Given the description of an element on the screen output the (x, y) to click on. 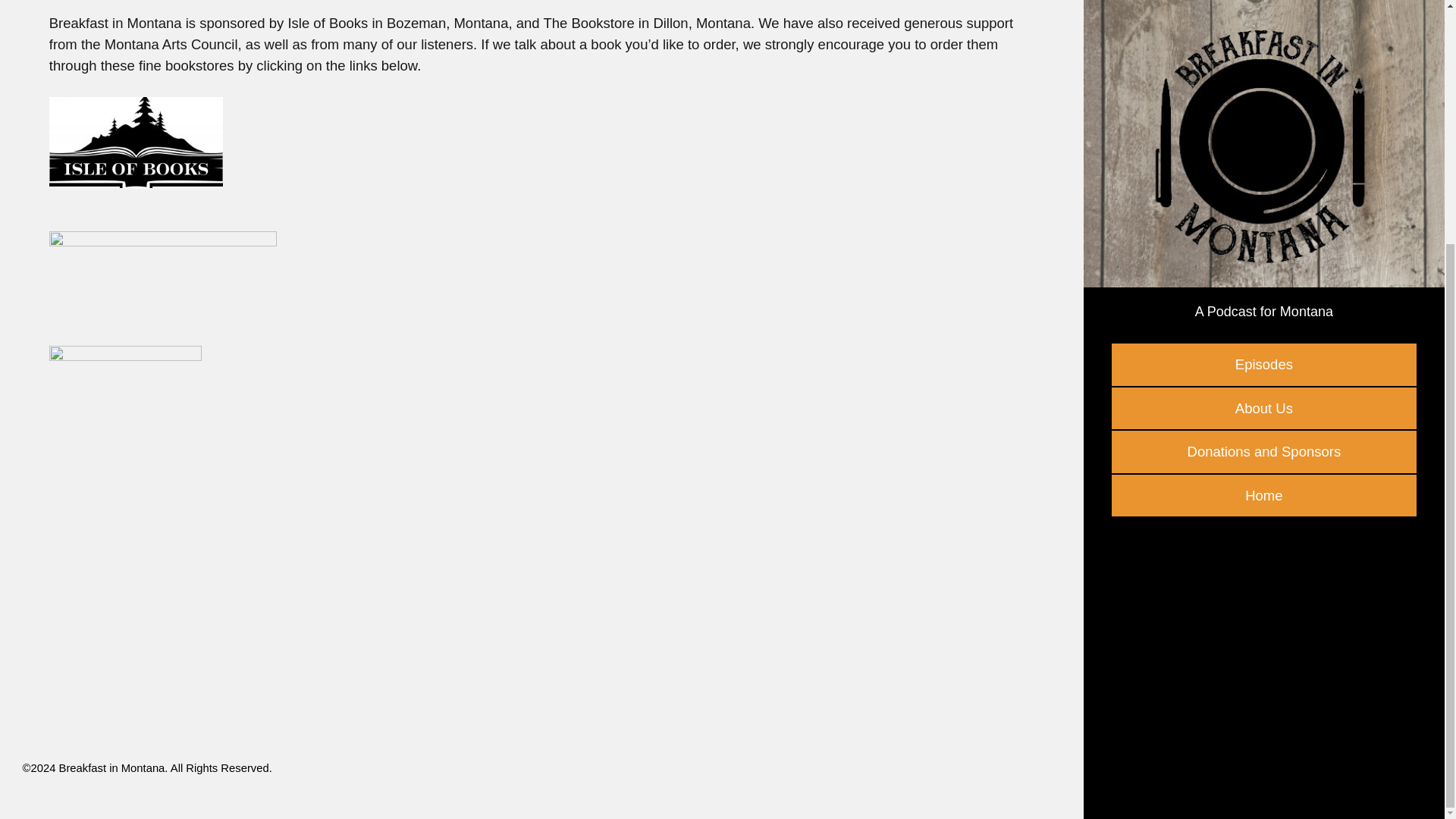
Home (1264, 156)
Episodes (1264, 25)
Donations and Sponsors (1264, 112)
About Us (1264, 69)
